Given the description of an element on the screen output the (x, y) to click on. 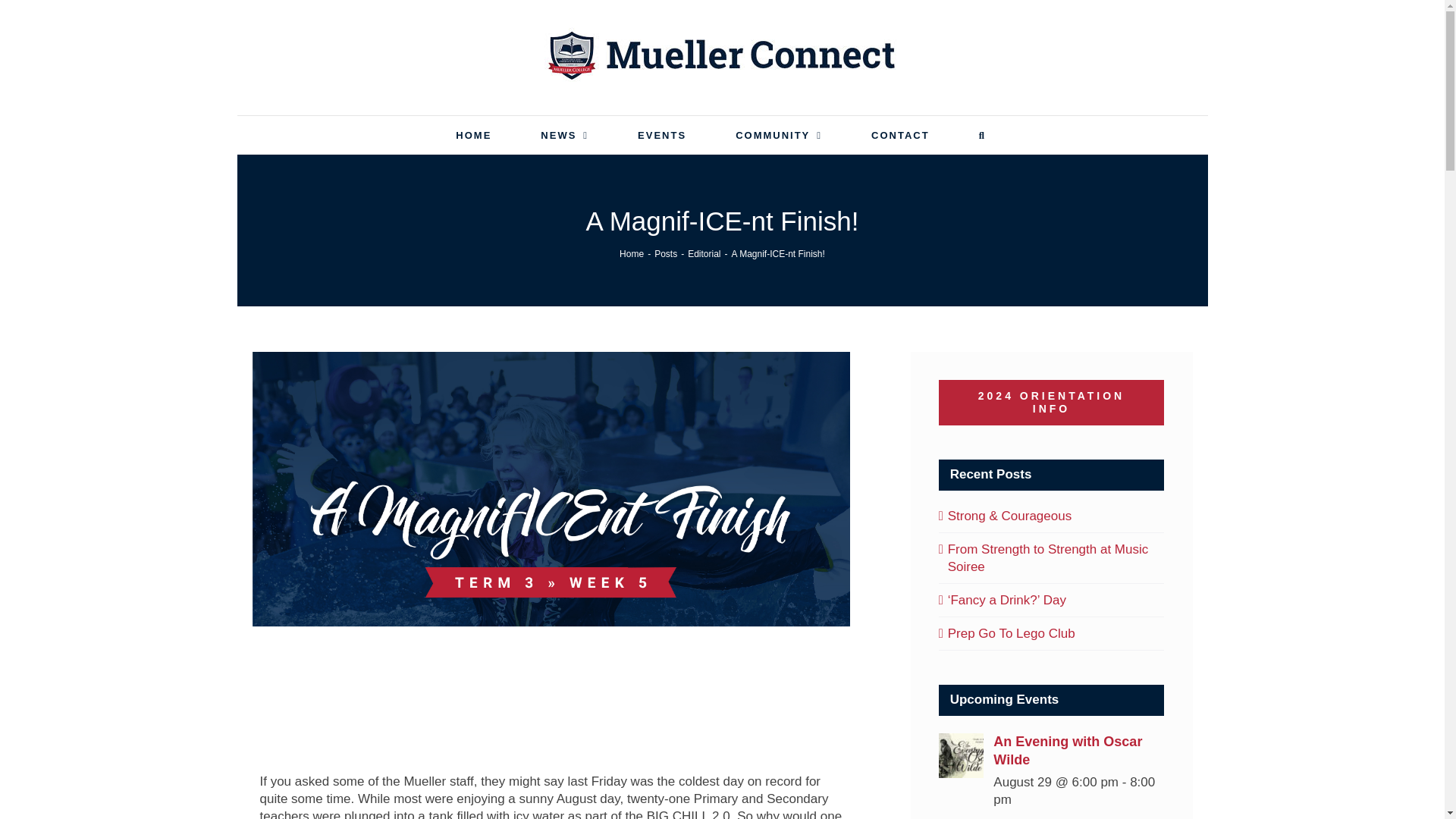
CONTACT (900, 134)
COMMUNITY (778, 134)
EVENTS (661, 134)
HOME (473, 134)
NEWS (564, 134)
